Given the description of an element on the screen output the (x, y) to click on. 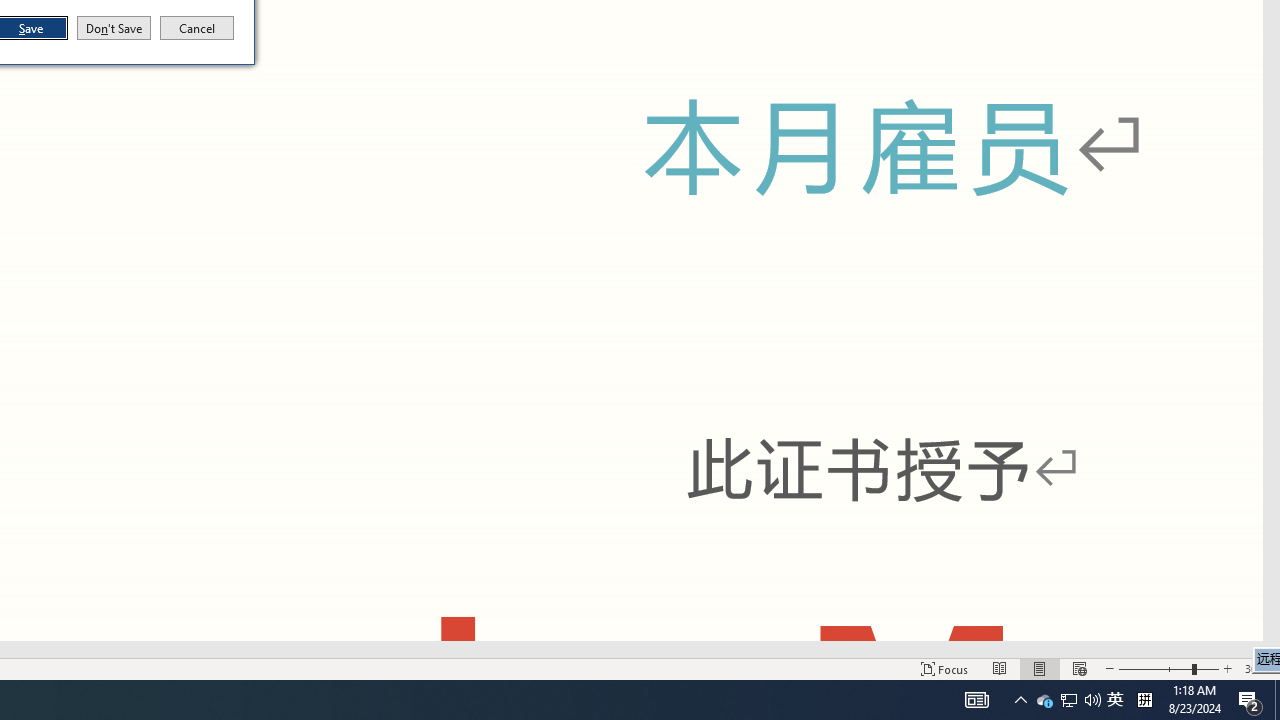
Zoom In (1227, 668)
Zoom (1168, 668)
Tray Input Indicator - Chinese (Simplified, China) (1144, 699)
User Promoted Notification Area (1068, 699)
Print Layout (1039, 668)
Action Center, 2 new notifications (1250, 699)
Zoom 308% (1258, 668)
Web Layout (1079, 668)
Cancel (197, 27)
Read Mode (1000, 668)
Notification Chevron (1020, 699)
Zoom Out (1044, 699)
